Given the description of an element on the screen output the (x, y) to click on. 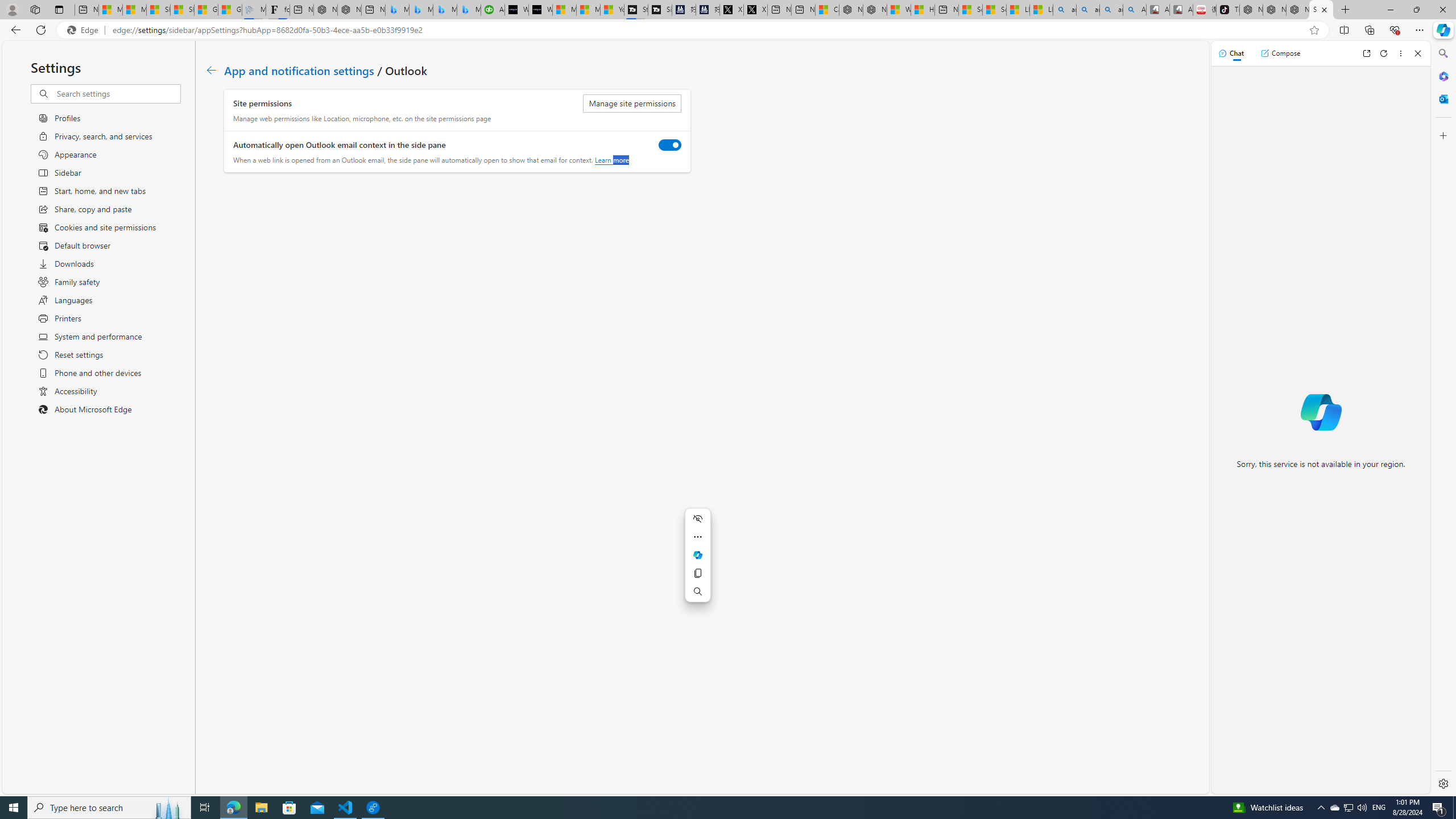
Class: c01188 (210, 70)
Mini menu on text selection (697, 554)
Ask Copilot (697, 555)
App and notification settings (299, 69)
